Given the description of an element on the screen output the (x, y) to click on. 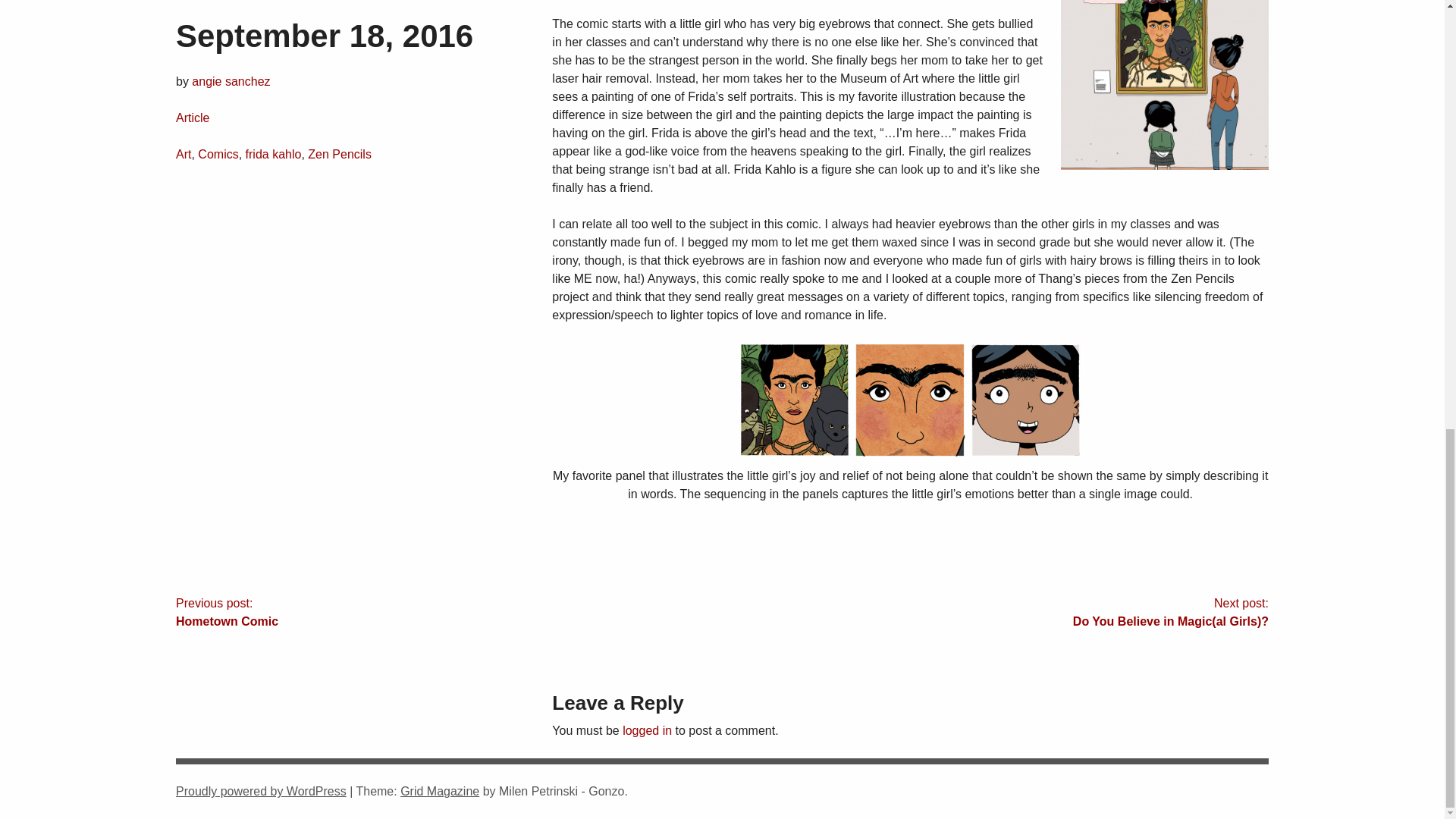
Grid Magazine (439, 790)
logged in (449, 613)
Proudly powered by WordPress (647, 730)
